Given the description of an element on the screen output the (x, y) to click on. 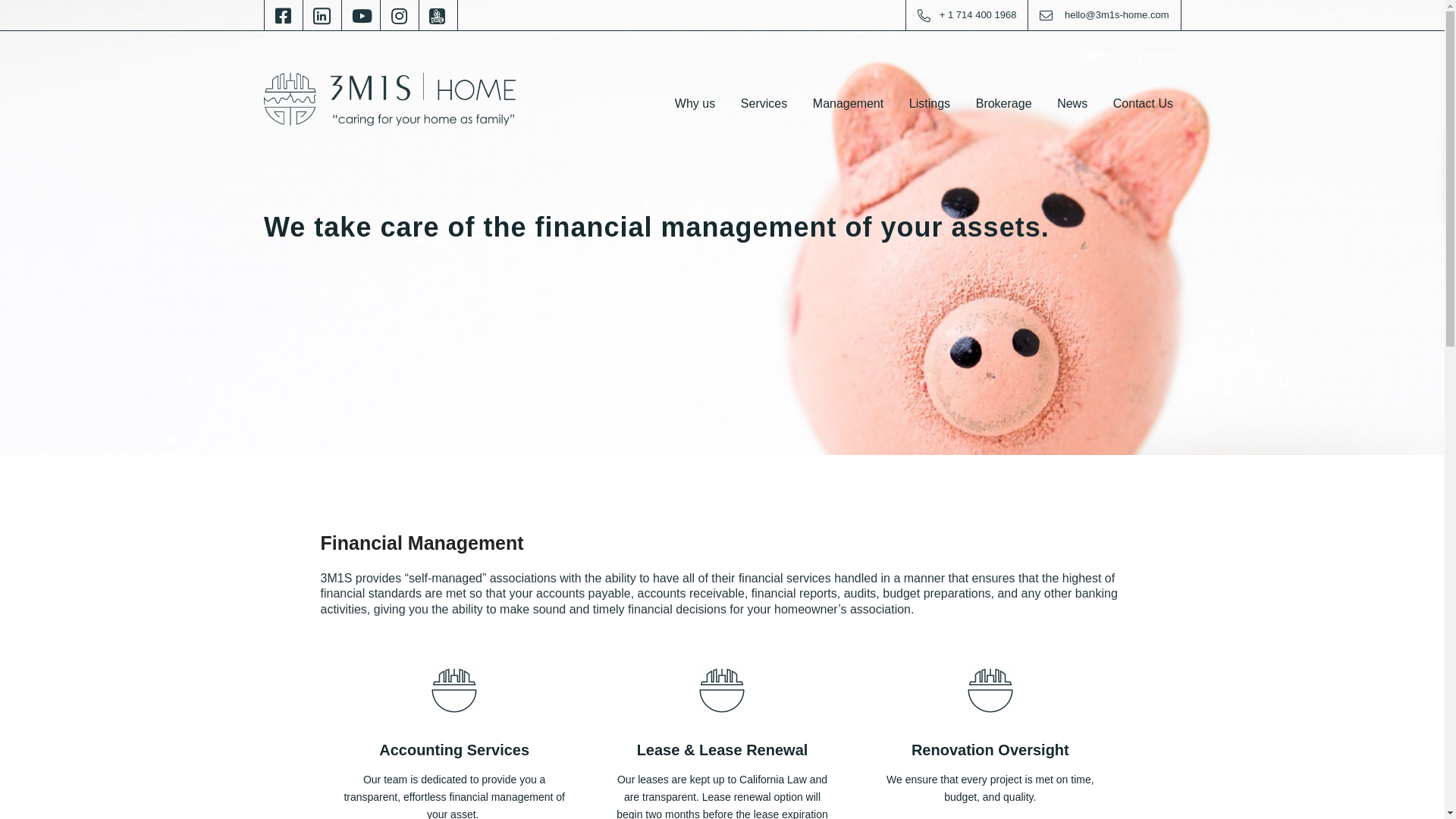
bulletpoint3-01 Element type: hover (990, 689)
Brokerage Element type: text (1003, 103)
Owner Element type: text (1092, 55)
Contact Us Element type: text (1142, 103)
bulletpoint3-01 Element type: hover (721, 689)
News Element type: text (1071, 103)
Management Element type: text (847, 103)
Services Element type: text (763, 103)
+ 1 714 400 1968 Element type: text (977, 14)
Tenant Element type: text (1154, 55)
hello@3m1s-home.com Element type: text (1116, 14)
Listings Element type: text (929, 103)
Why us Element type: text (694, 103)
bulletpoint3-01 Element type: hover (453, 689)
